Given the description of an element on the screen output the (x, y) to click on. 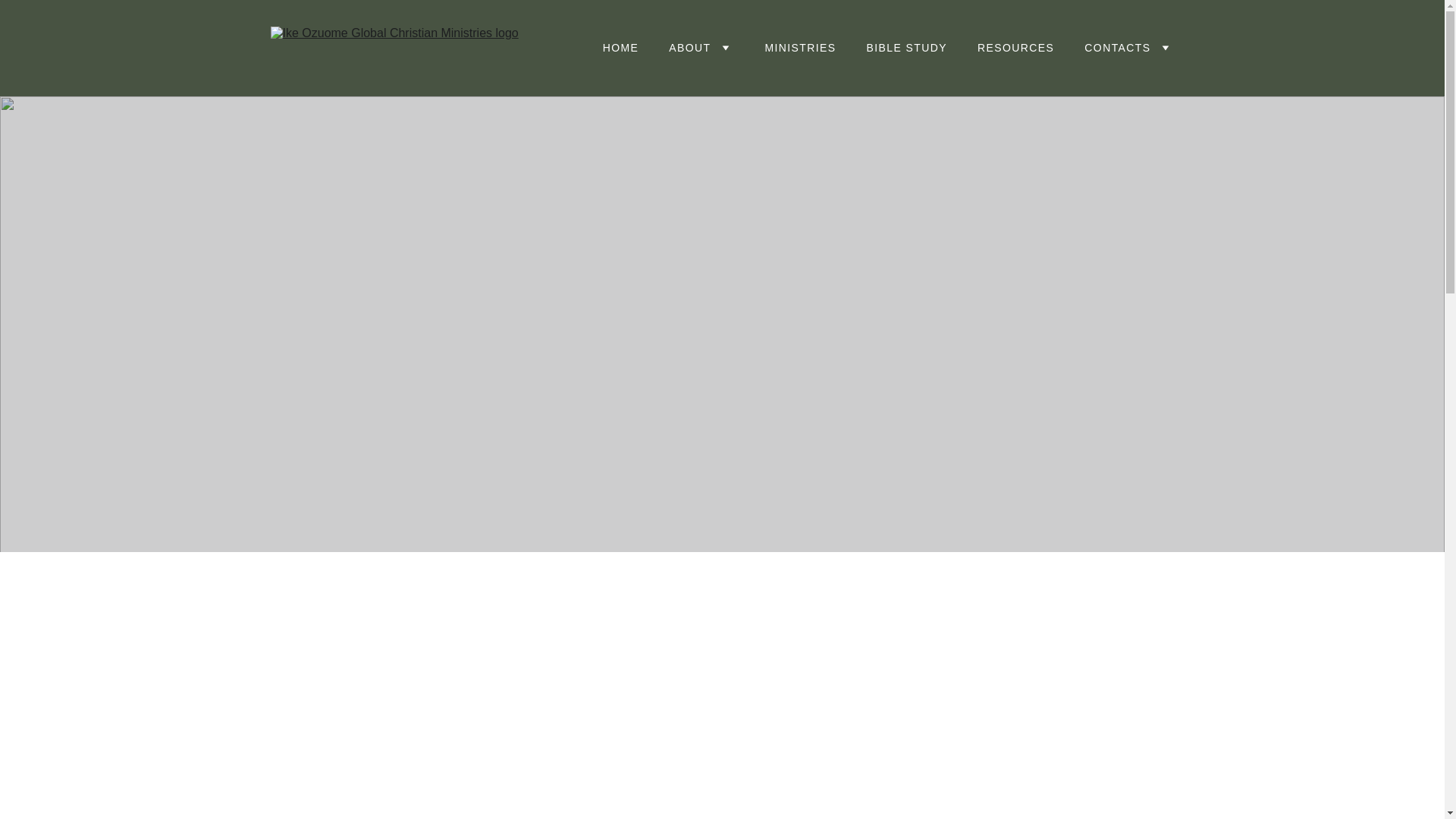
HOME (620, 47)
CONTACTS (1117, 47)
ABOUT (689, 47)
BIBLE STUDY (906, 47)
MINISTRIES (799, 47)
RESOURCES (1015, 47)
